Given the description of an element on the screen output the (x, y) to click on. 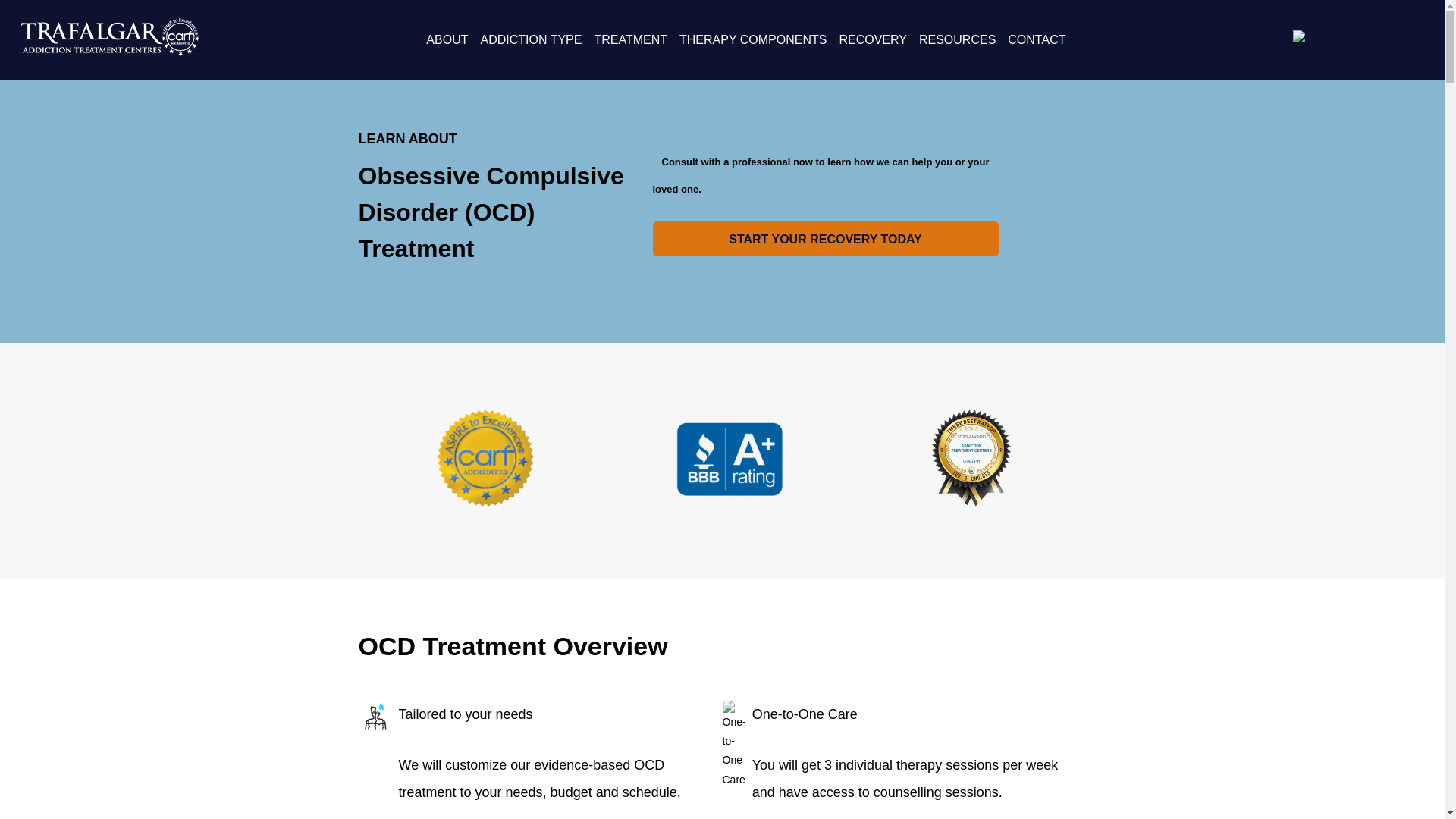
Better Business Bureaus Profile (727, 502)
ABOUT (446, 39)
Three Best Rated Profile (970, 457)
ADDICTION TYPE (530, 39)
CARF Profile (485, 502)
